Given the description of an element on the screen output the (x, y) to click on. 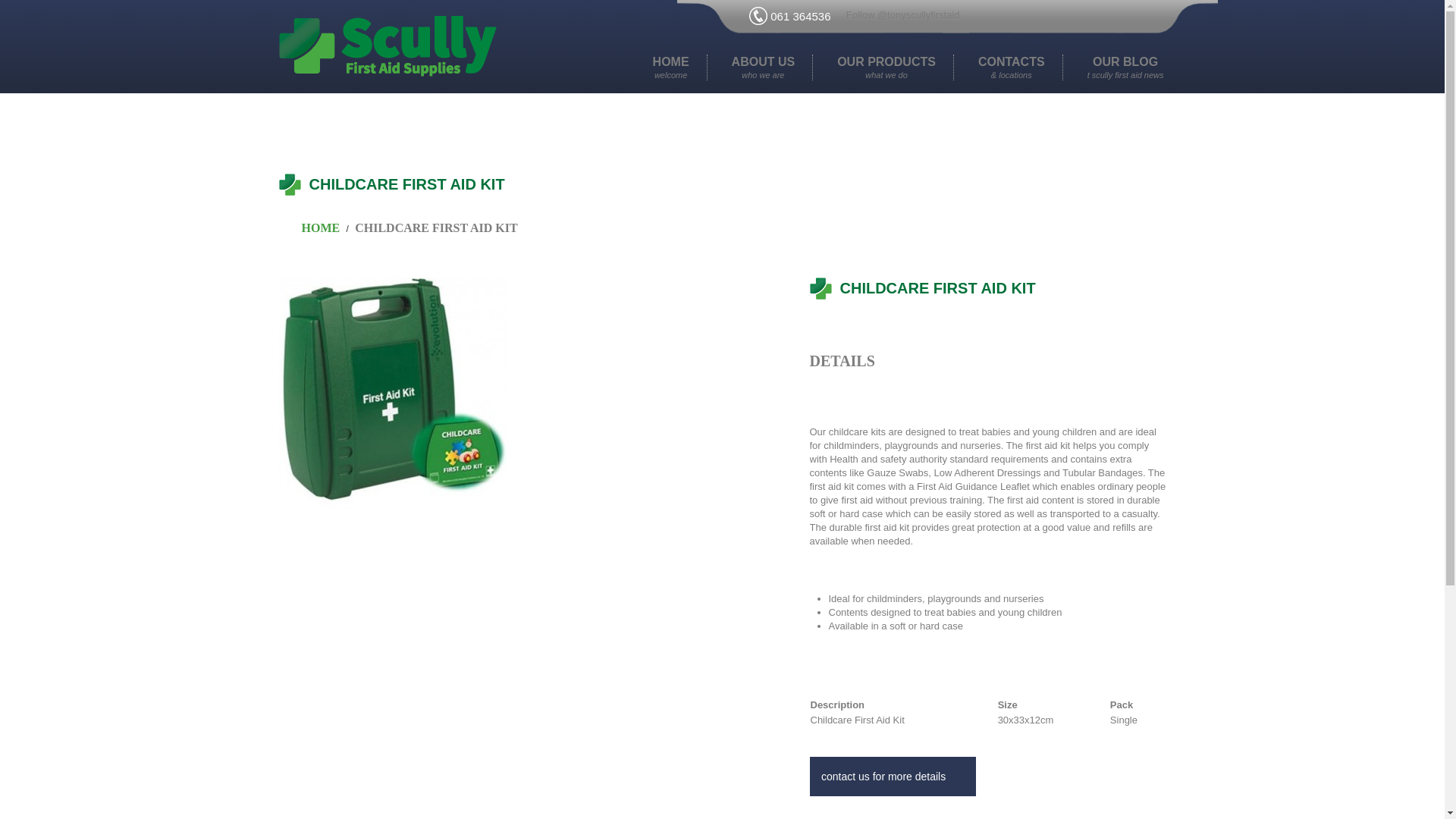
contact us for more details (763, 67)
Contact us for more details (885, 67)
HOME (670, 67)
